Given the description of an element on the screen output the (x, y) to click on. 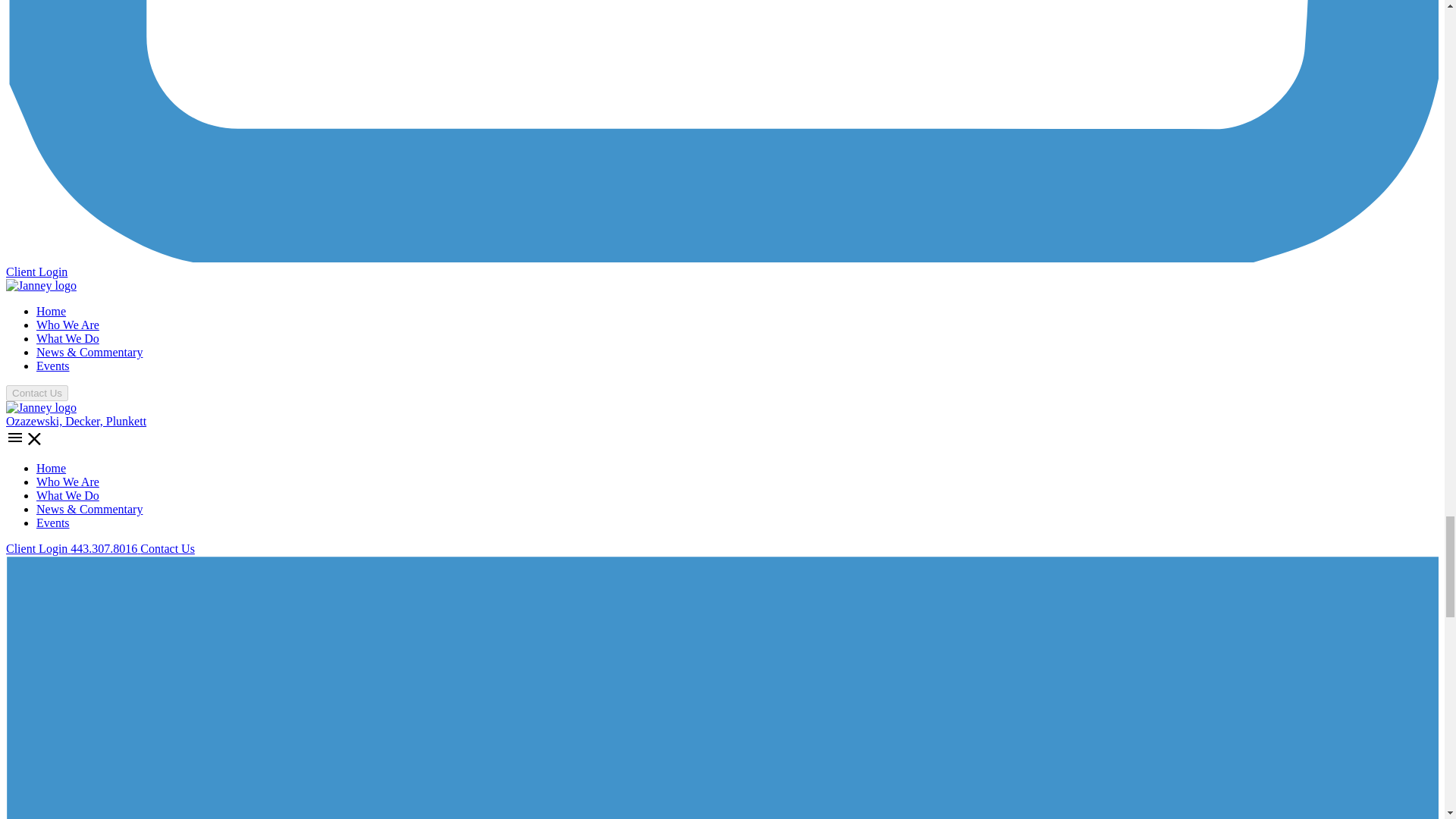
Events (52, 365)
Who We Are (67, 481)
Contact Us (167, 548)
janney-header-logo (41, 407)
What We Do (67, 338)
Home (50, 468)
Home (50, 310)
443.307.8016 (104, 548)
janney-header-logo (41, 285)
Who We Are (67, 324)
